Given the description of an element on the screen output the (x, y) to click on. 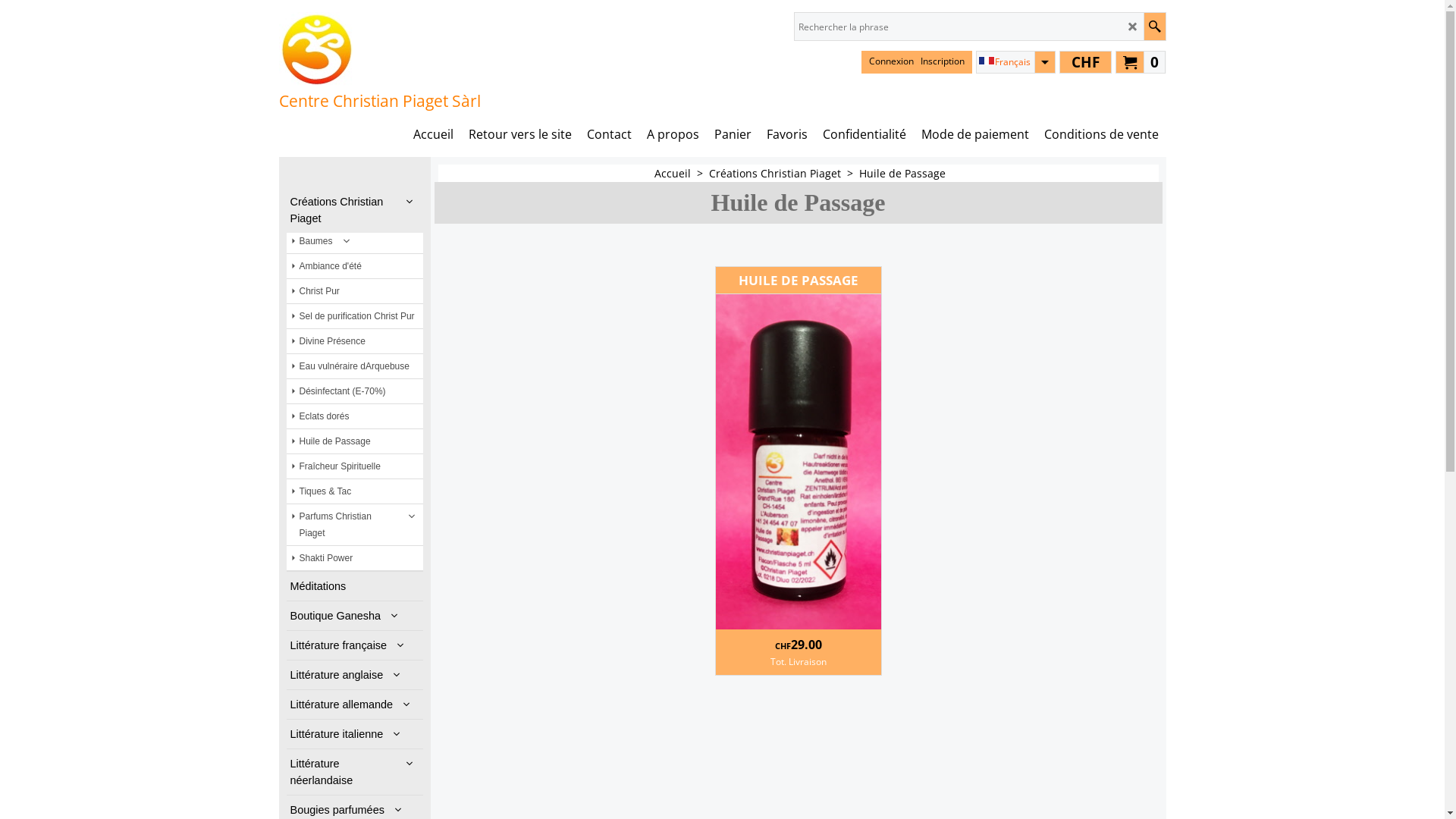
Tot. Livraison Element type: text (798, 661)
0 Element type: text (1139, 61)
Inscription Element type: text (942, 60)
HUILE DE PASSAGE Element type: text (798, 280)
Connexion Element type: text (891, 60)
Favoris Element type: text (786, 133)
Parfums Christian Piaget Element type: text (354, 524)
Accueil Element type: text (432, 133)
Sel de purification Christ Pur Element type: text (354, 316)
Huile de Passage Element type: hover (798, 461)
Tiques & Tac Element type: text (354, 491)
Contact Element type: text (609, 133)
Shakti Power Element type: text (354, 558)
Baumes Element type: text (354, 242)
Conditions de vente Element type: text (1100, 133)
LD_CANCEL Element type: hover (1132, 26)
Huile de Passage Element type: text (354, 441)
Recherche Element type: hover (1154, 26)
Boutique Ganesha Element type: text (354, 615)
Christ Pur Element type: text (354, 291)
Accueil  >  Element type: text (681, 173)
Mode de paiement Element type: text (974, 133)
CHF Element type: text (1084, 61)
A propos Element type: text (672, 133)
Retour vers le site Element type: text (520, 133)
Panier Element type: text (732, 133)
